Given the description of an element on the screen output the (x, y) to click on. 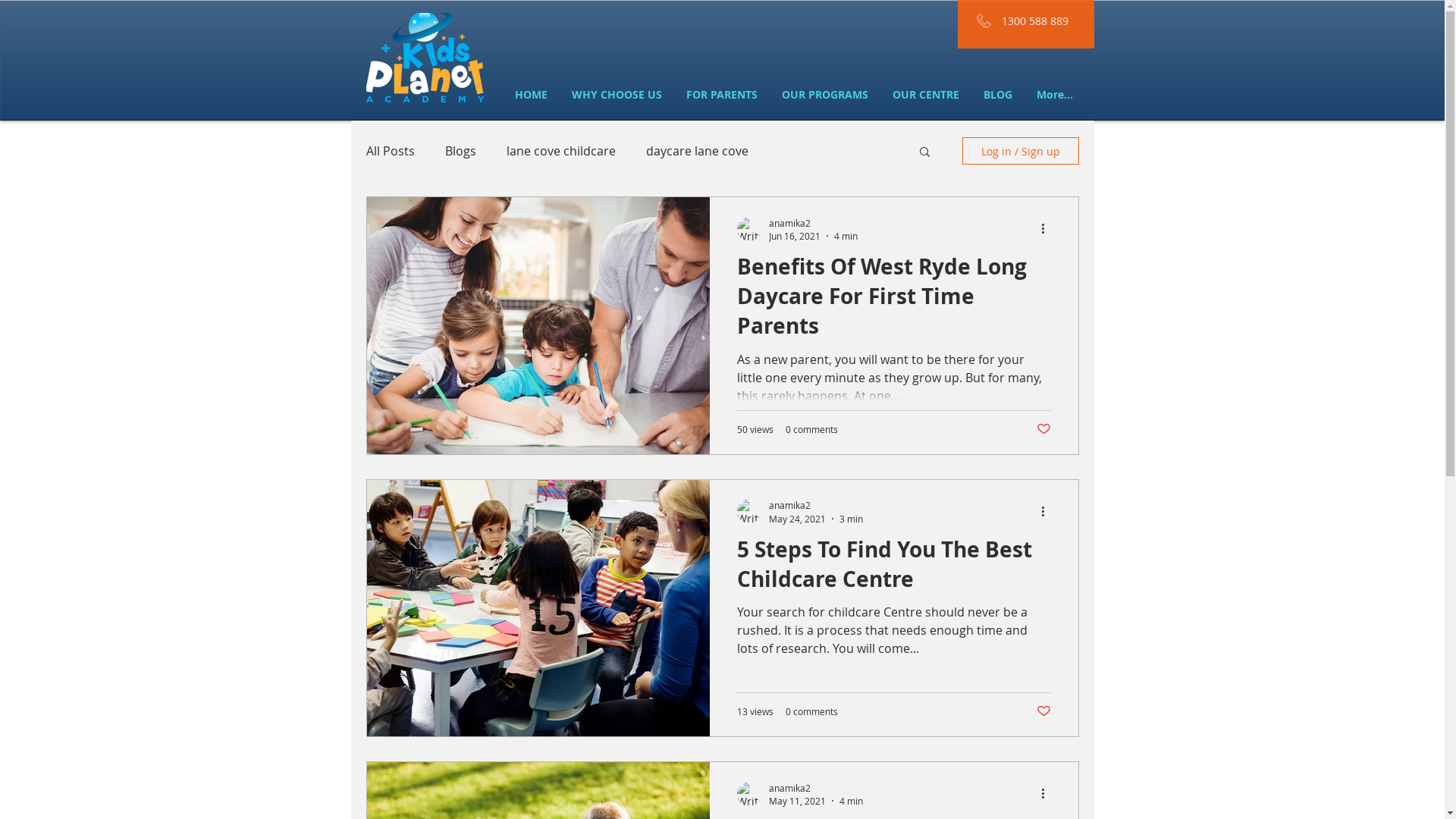
daycare lane cove Element type: text (697, 150)
All Posts Element type: text (389, 150)
Post not marked as liked Element type: text (1042, 710)
BLOG Element type: text (996, 94)
0 comments Element type: text (811, 429)
Blogs Element type: text (459, 150)
Benefits Of West Ryde Long Daycare For First Time Parents Element type: text (894, 300)
0 comments Element type: text (811, 711)
HOME Element type: text (530, 94)
OUR CENTRE Element type: text (924, 94)
FOR PARENTS Element type: text (720, 94)
5 Steps To Find You The Best Childcare Centre Element type: text (894, 567)
Log in / Sign up Element type: text (1019, 150)
Post not marked as liked Element type: text (1042, 428)
lane cove childcare Element type: text (560, 150)
WHY CHOOSE US Element type: text (616, 94)
